Given the description of an element on the screen output the (x, y) to click on. 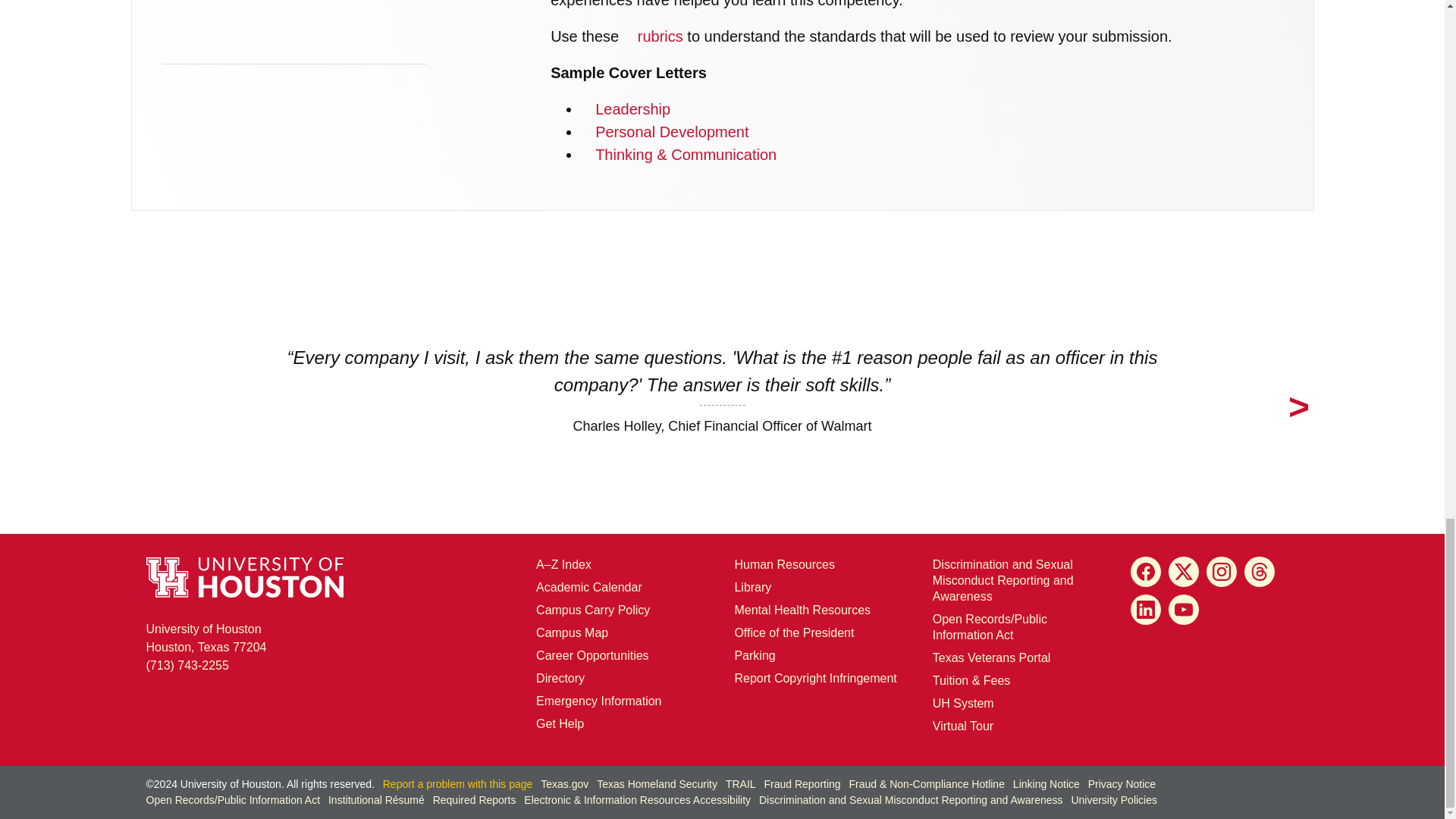
Personal Development (664, 131)
Threads (1259, 571)
X (1183, 571)
Leadership (624, 108)
Facebook (1145, 571)
University of Houston (941, 703)
Instagram (1221, 571)
YouTube (1183, 609)
rubrics (652, 36)
